Given the description of an element on the screen output the (x, y) to click on. 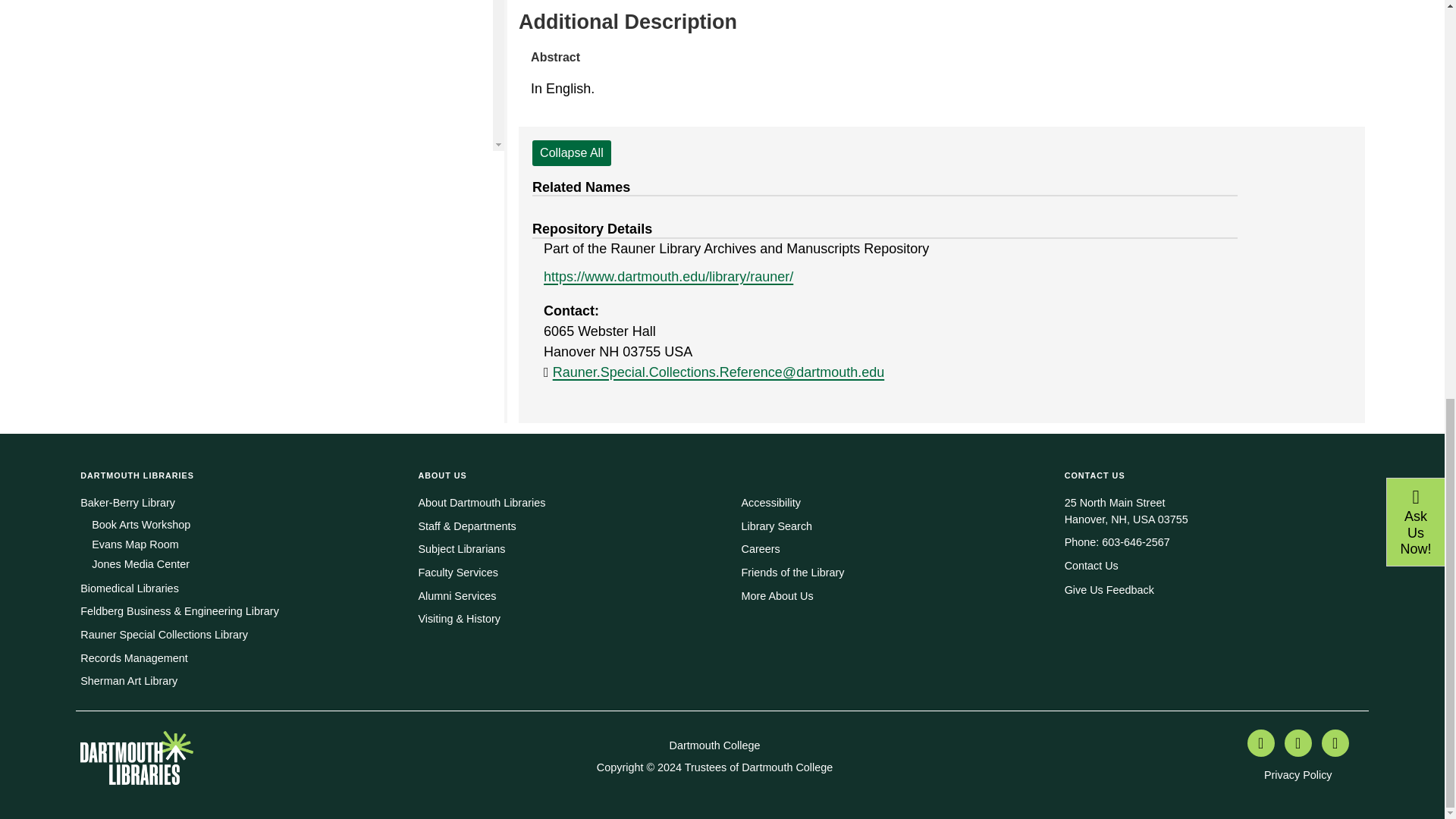
Related Names (581, 186)
Dartmouth Libraries (136, 752)
Repository Details (592, 228)
Send email (719, 372)
Collapse All (571, 153)
